Given the description of an element on the screen output the (x, y) to click on. 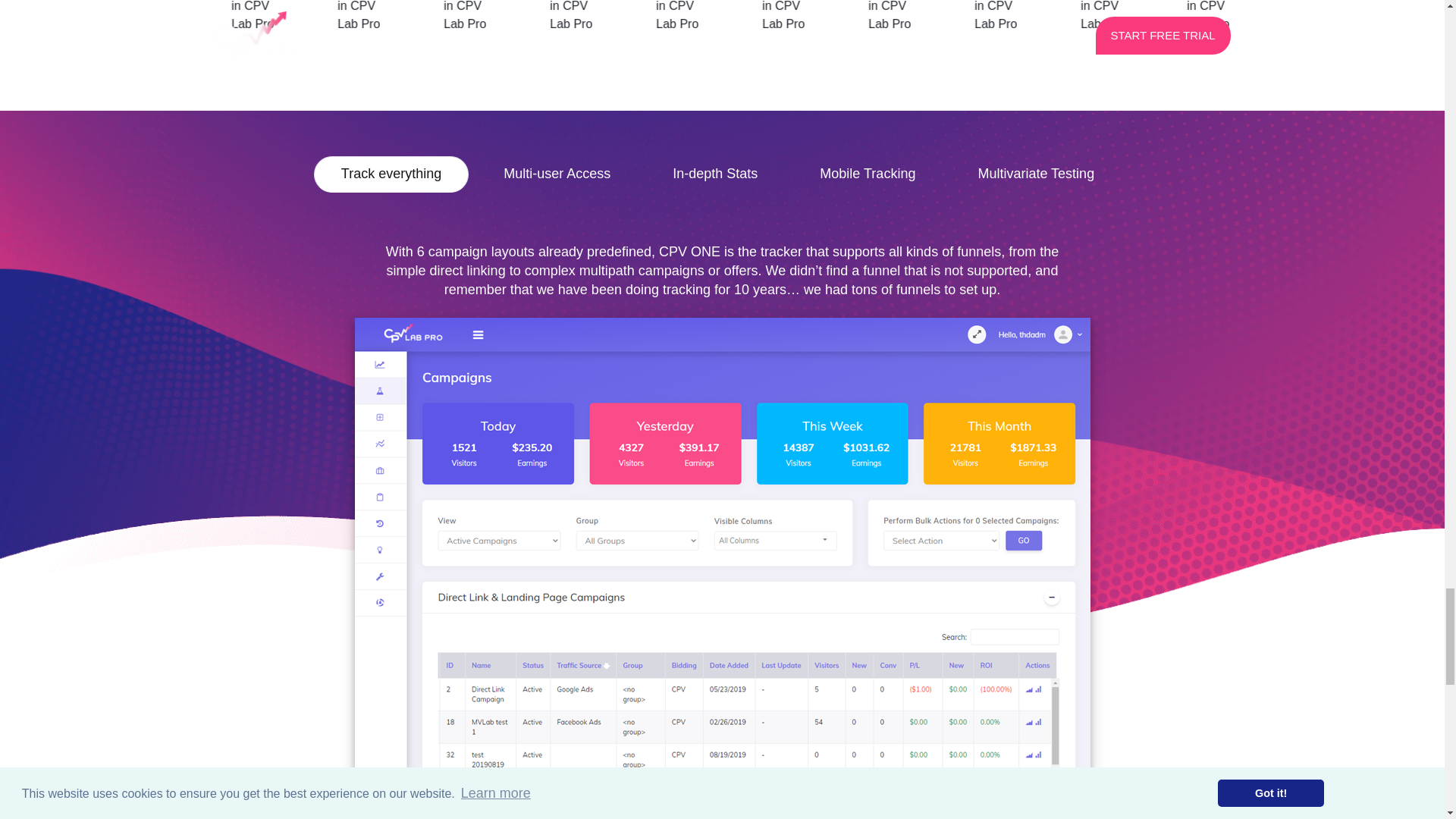
In-depth Stats (714, 173)
Mobile Tracking (867, 173)
Multivariate Testing (1035, 173)
Track everything (391, 173)
Multi-user Access (556, 173)
